Given the description of an element on the screen output the (x, y) to click on. 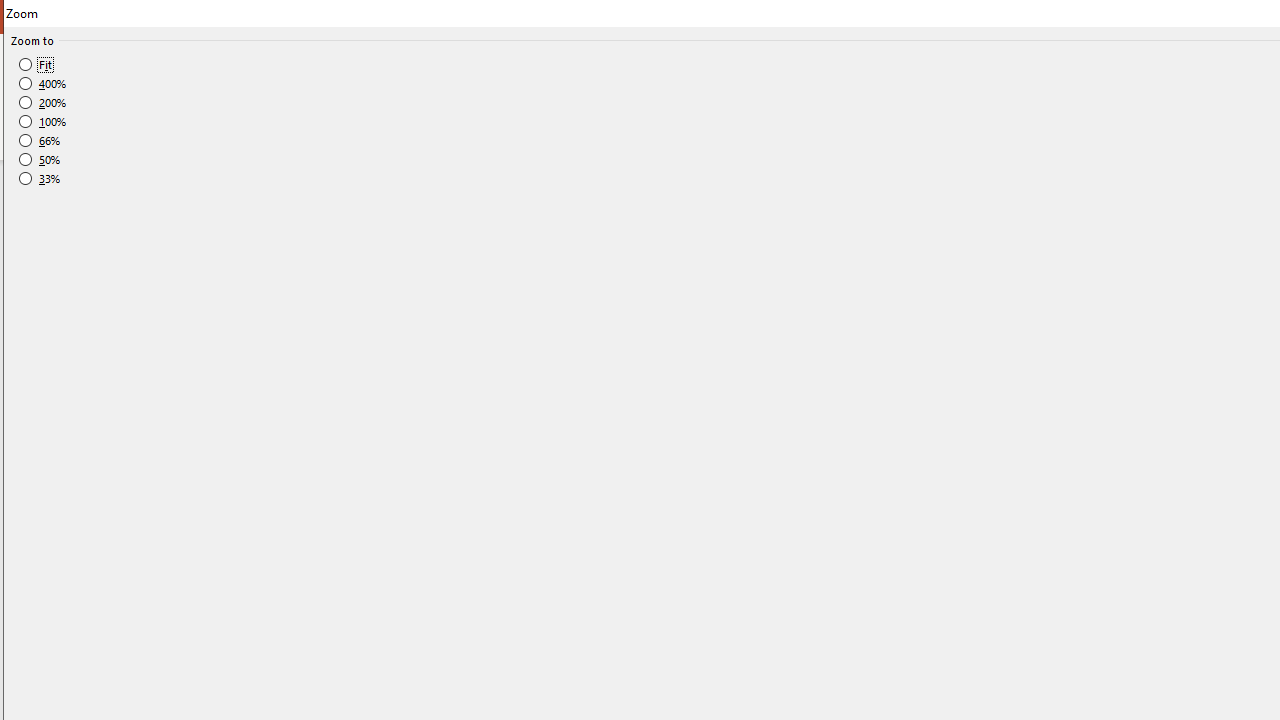
Fit (36, 64)
66% (40, 141)
50% (40, 159)
33% (40, 179)
400% (43, 84)
100% (43, 121)
200% (43, 102)
